Given the description of an element on the screen output the (x, y) to click on. 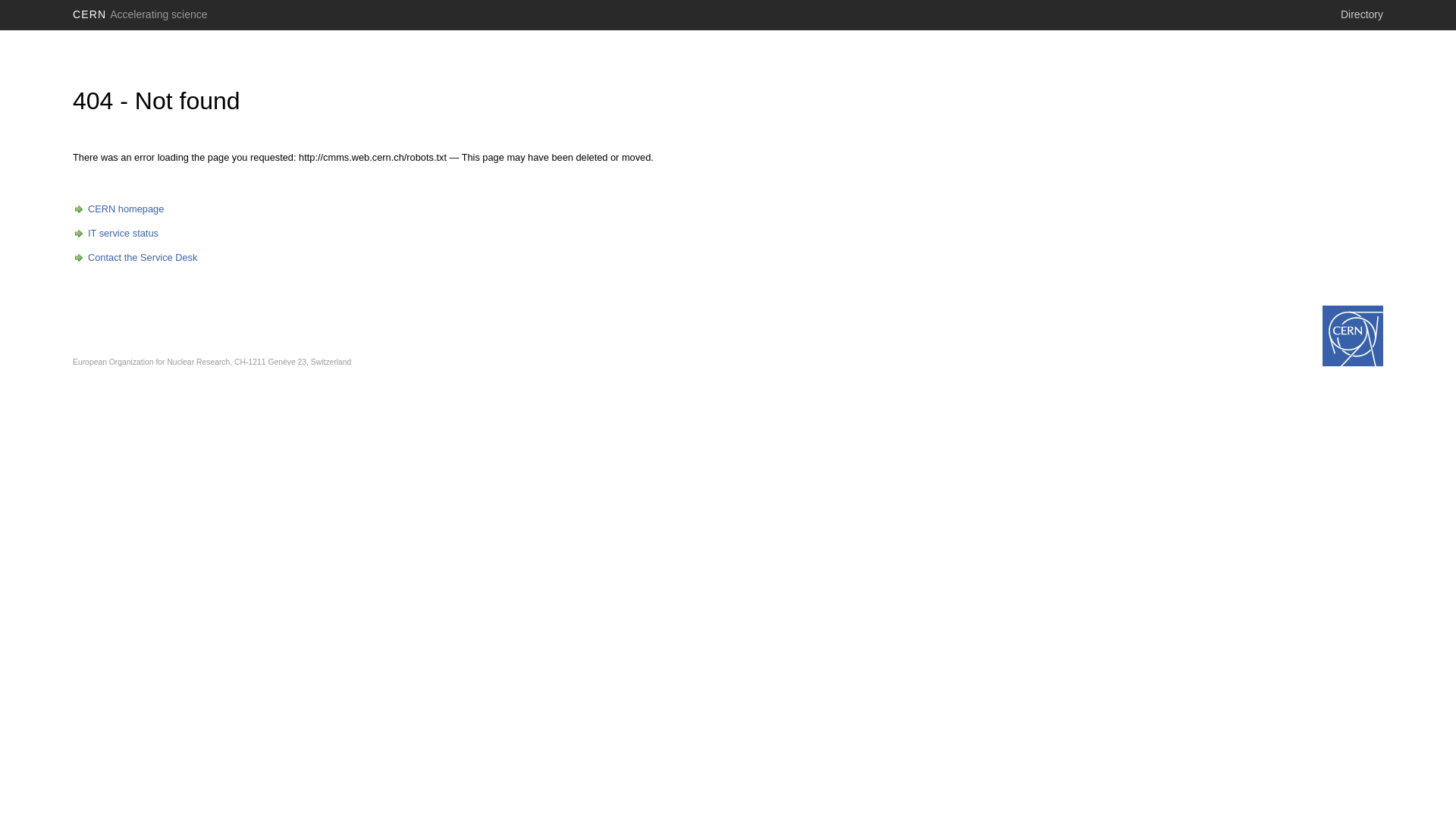
Contact the Service Desk Element type: text (134, 257)
IT service status Element type: text (115, 232)
Directory Element type: text (1361, 14)
CERN Accelerating science Element type: text (139, 14)
CERN homepage Element type: text (117, 208)
home.cern Element type: hover (1352, 335)
